Given the description of an element on the screen output the (x, y) to click on. 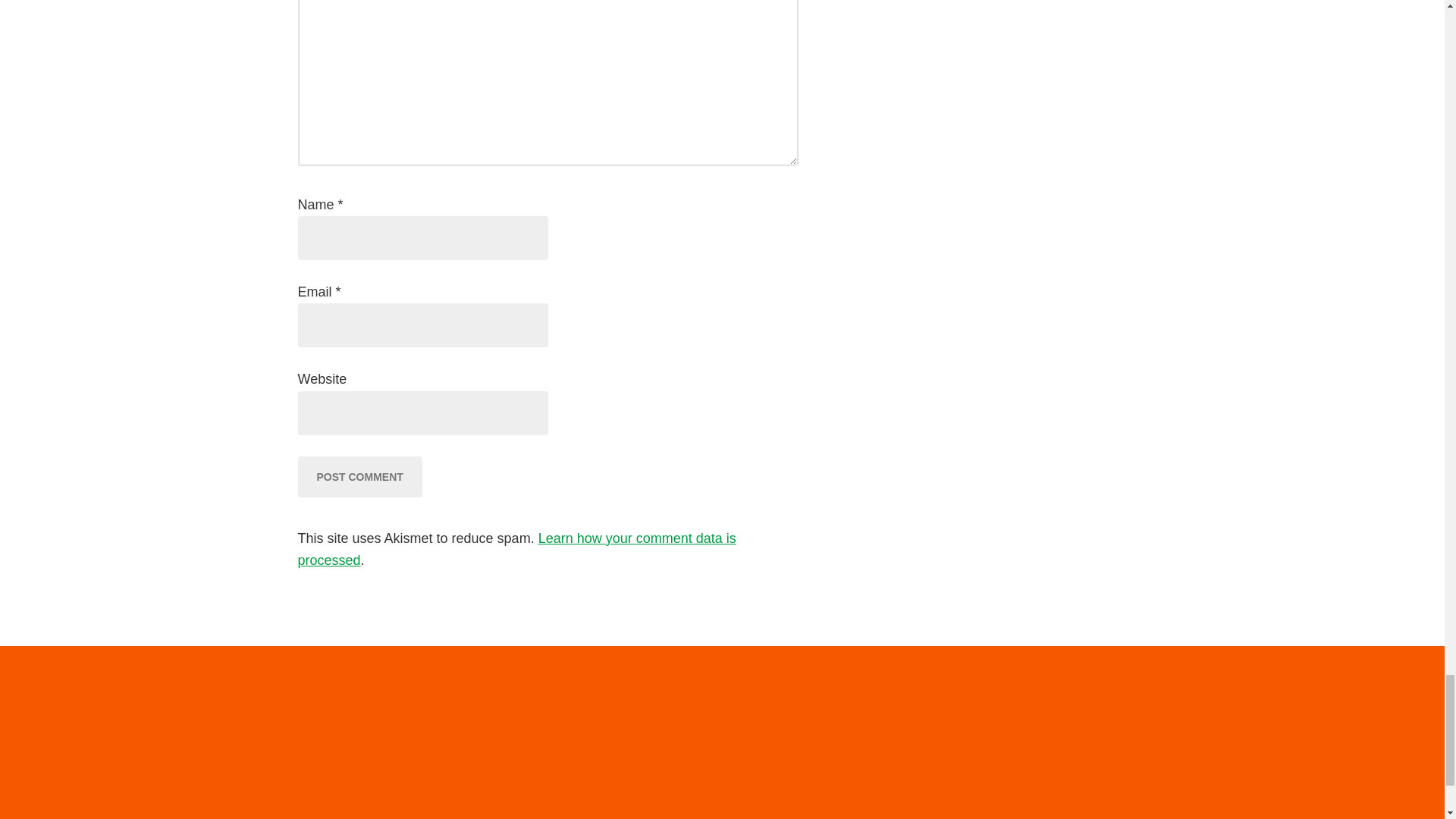
Learn how your comment data is processed (516, 549)
Post Comment (359, 476)
Post Comment (359, 476)
